Given the description of an element on the screen output the (x, y) to click on. 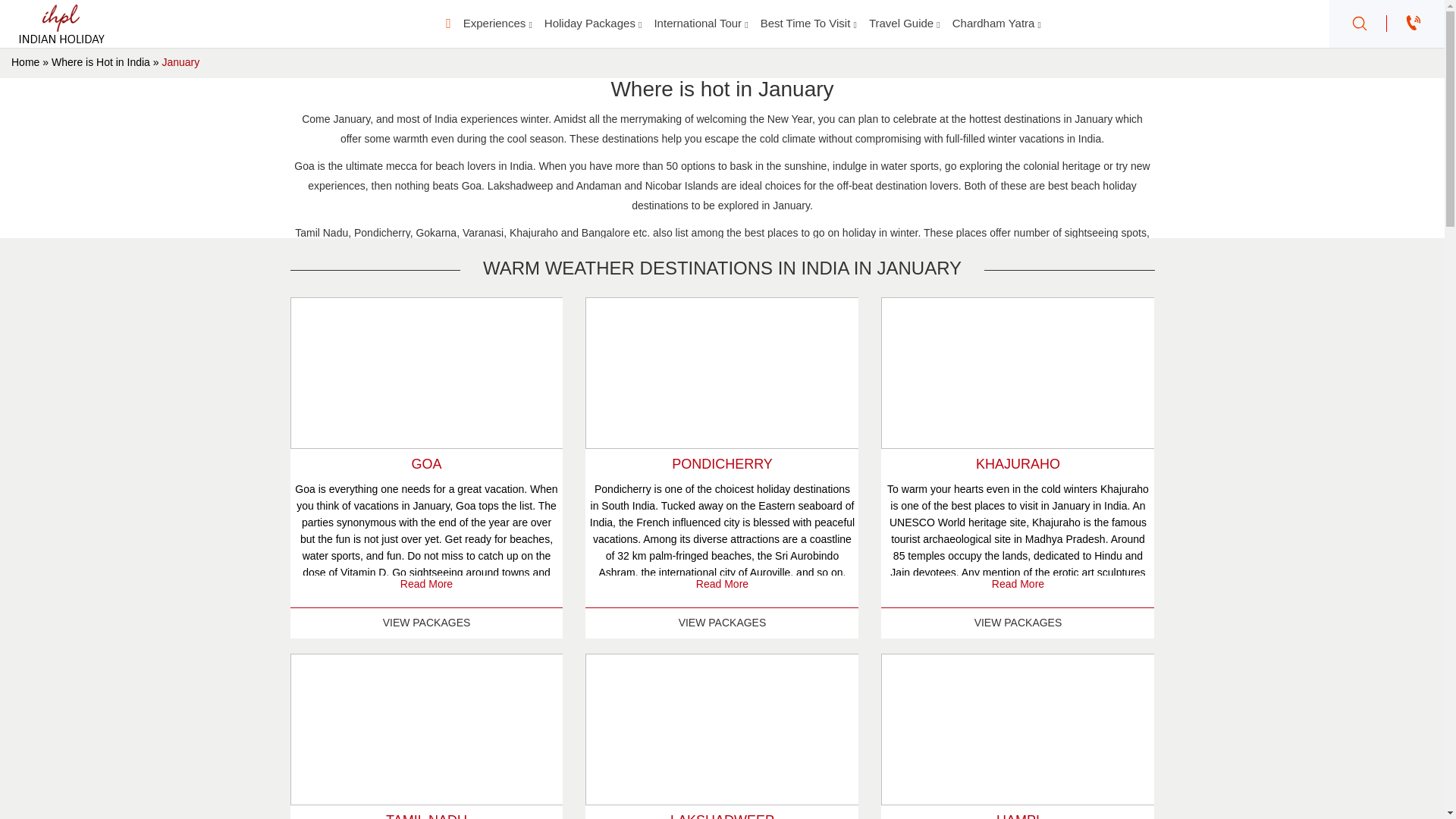
International Tour (700, 23)
Holiday Packages (592, 23)
Experiences (497, 23)
